Given the description of an element on the screen output the (x, y) to click on. 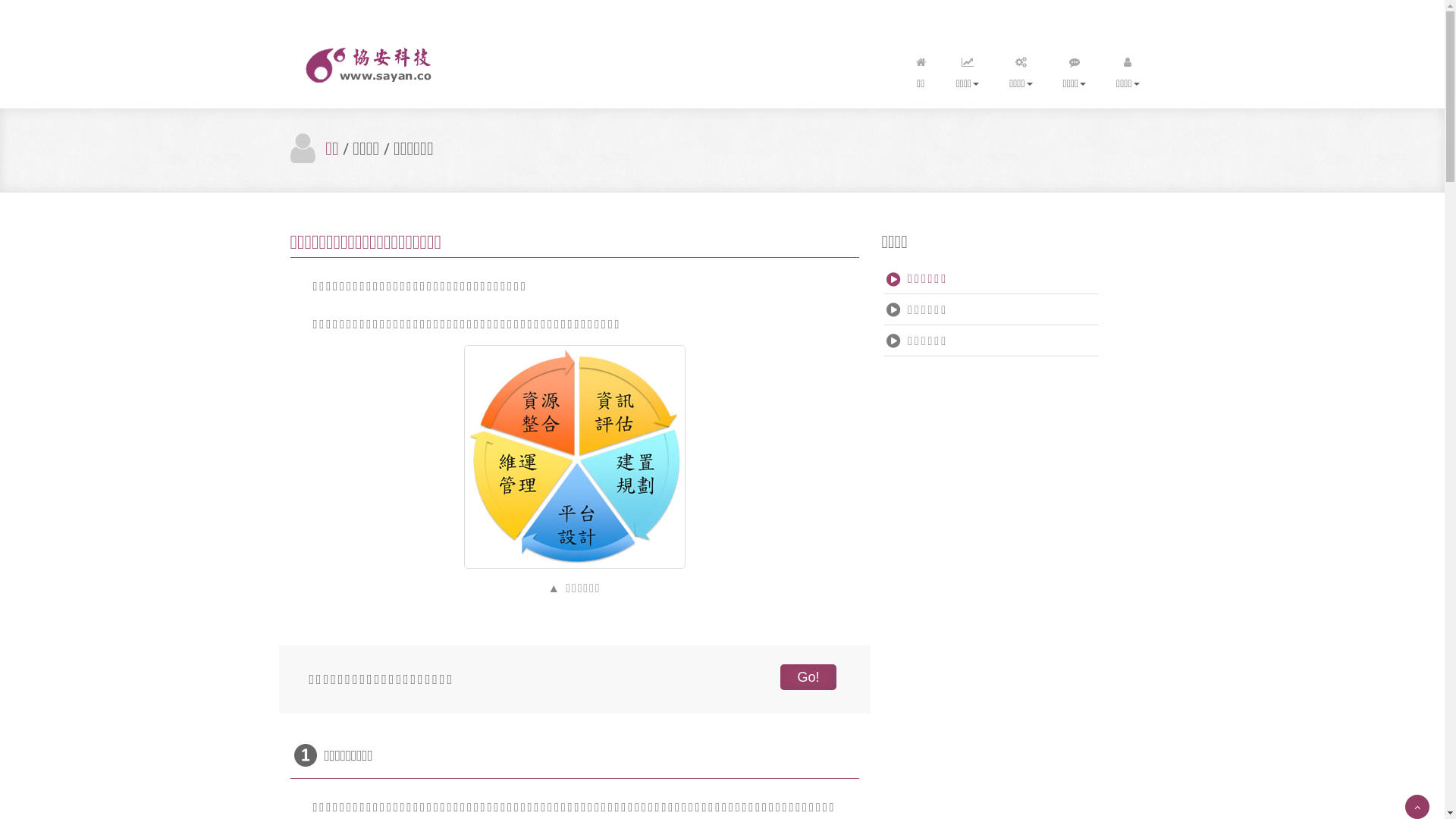
Go! Element type: text (807, 677)
